Given the description of an element on the screen output the (x, y) to click on. 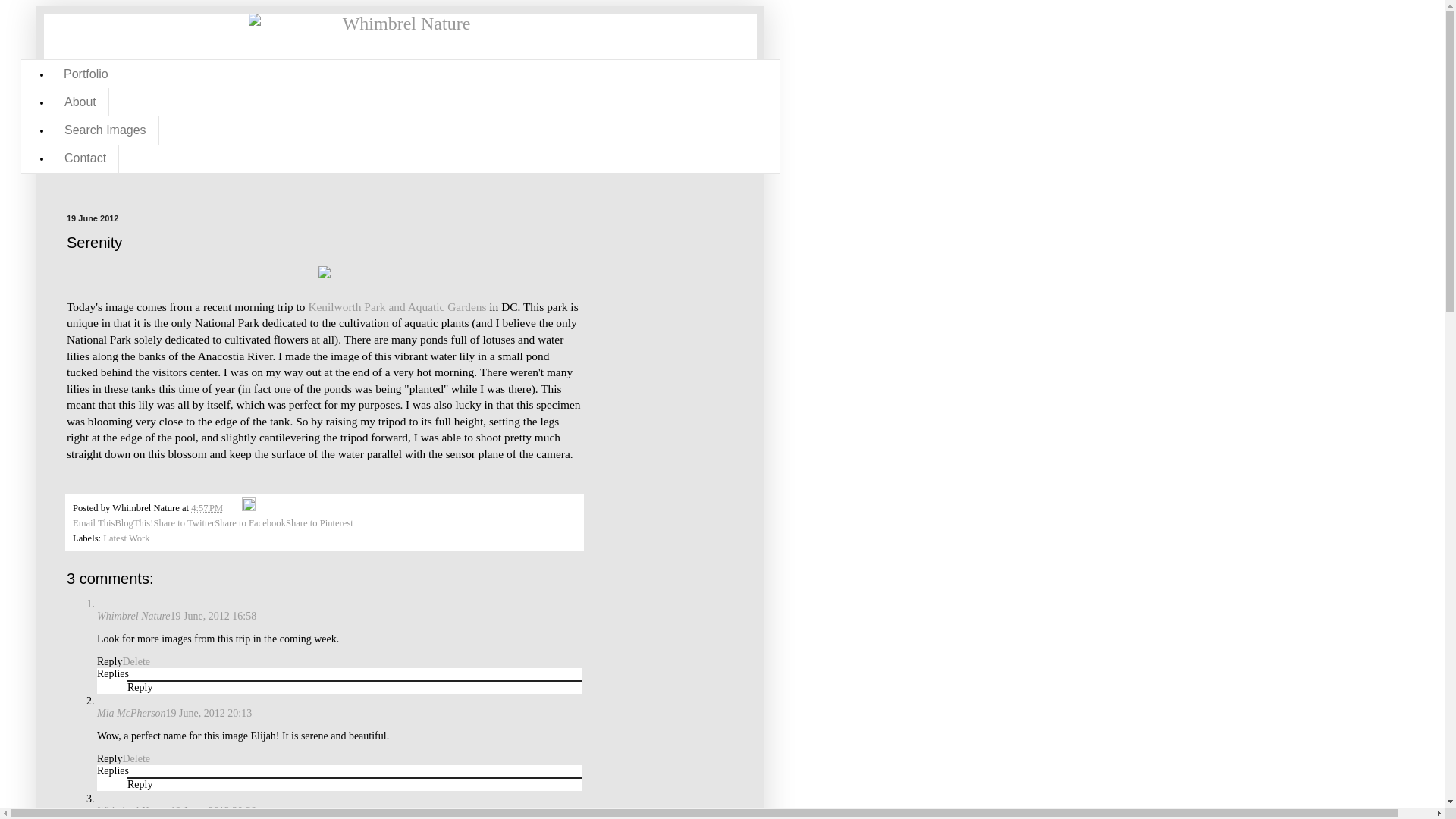
Replies (113, 770)
Replies (113, 672)
Share to Pinterest (319, 522)
Delete (135, 660)
Email Post (233, 507)
BlogThis! (133, 522)
About (79, 101)
Reply (140, 784)
Email This (93, 522)
Mia McPherson (131, 713)
Share to Twitter (183, 522)
19 June, 2012 20:29 (213, 810)
Search Images (104, 130)
19 June, 2012 16:58 (213, 614)
